Given the description of an element on the screen output the (x, y) to click on. 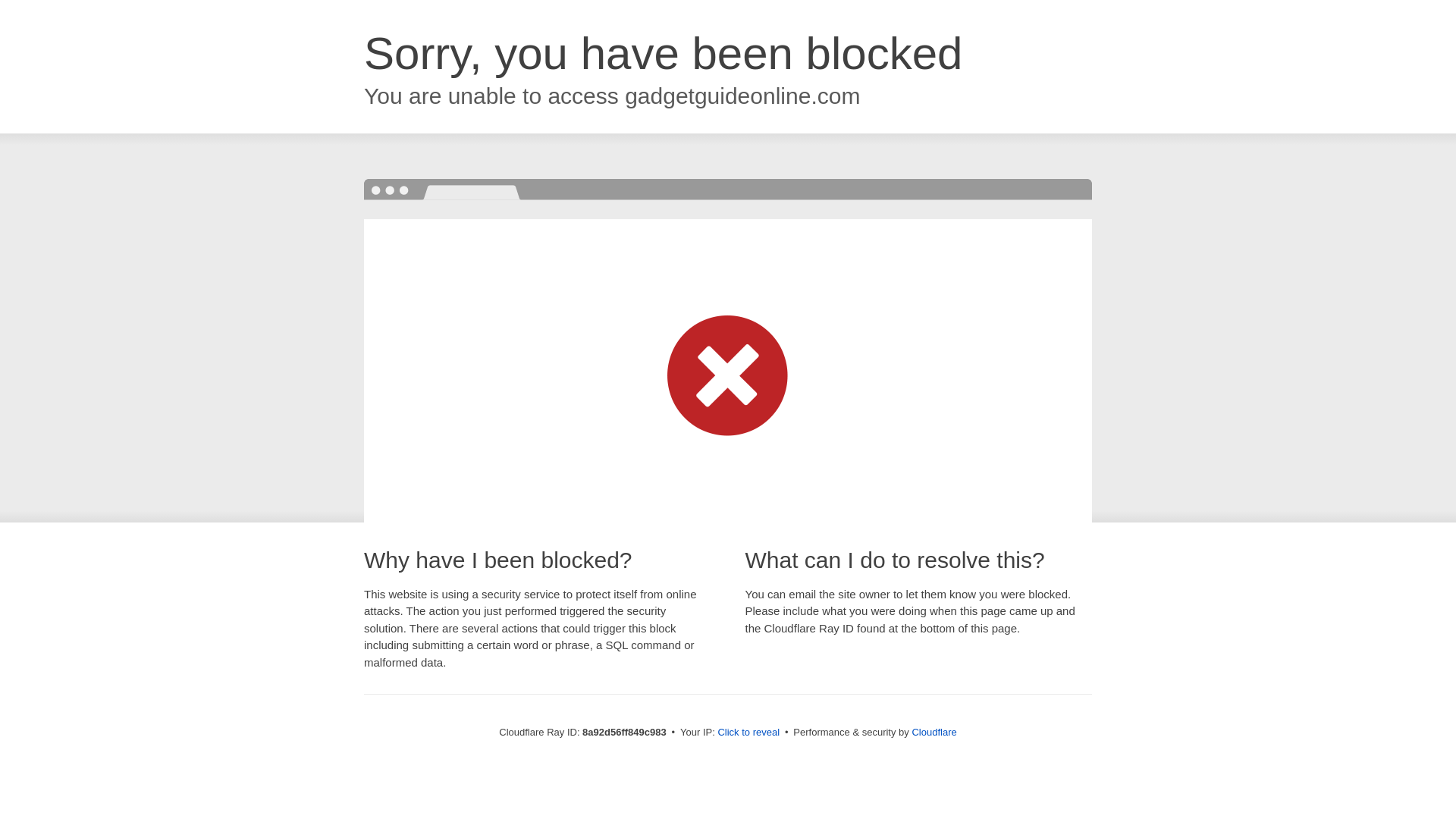
Click to reveal (747, 732)
Cloudflare (933, 731)
